Given the description of an element on the screen output the (x, y) to click on. 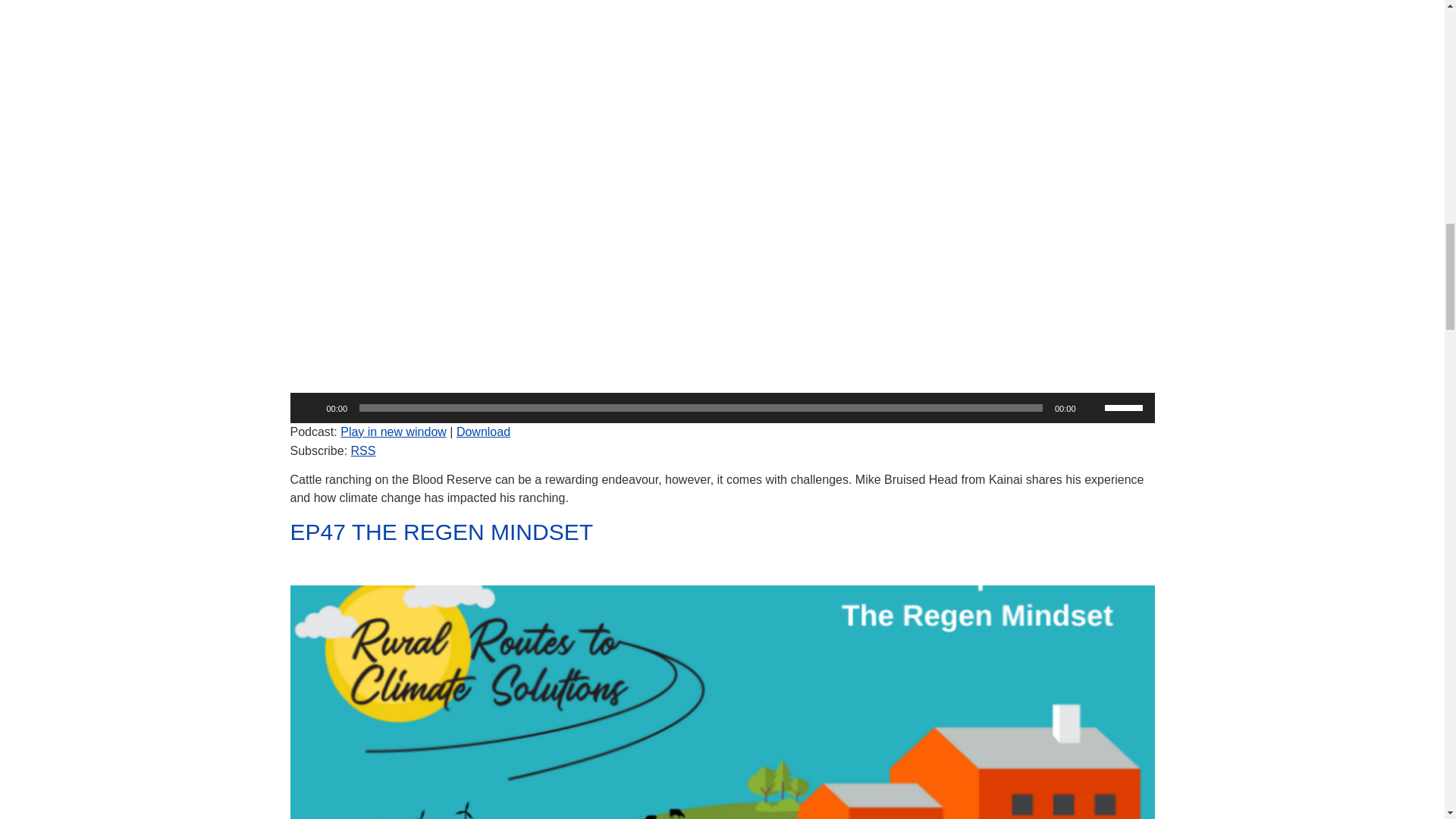
Subscribe via RSS (362, 450)
Mute (1091, 407)
Play in new window (393, 431)
Play (309, 407)
Download (484, 431)
RSS (362, 450)
Play in new window (393, 431)
EP47 THE REGEN MINDSET (440, 545)
Download (484, 431)
